Given the description of an element on the screen output the (x, y) to click on. 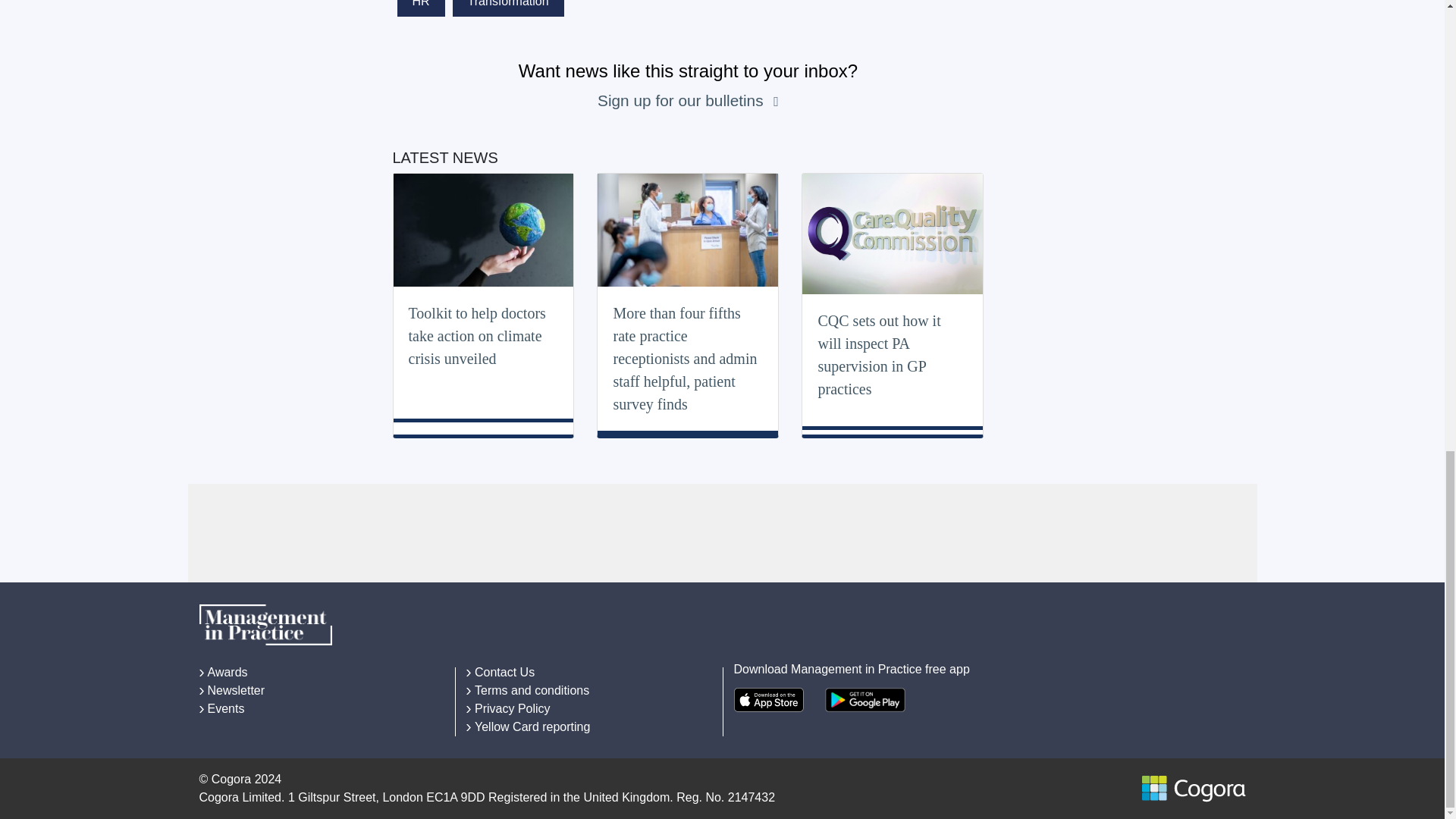
Sign up for our bulletins (681, 99)
Download our app from Google Play (865, 699)
Download our app from the Apple App Store (768, 699)
